Given the description of an element on the screen output the (x, y) to click on. 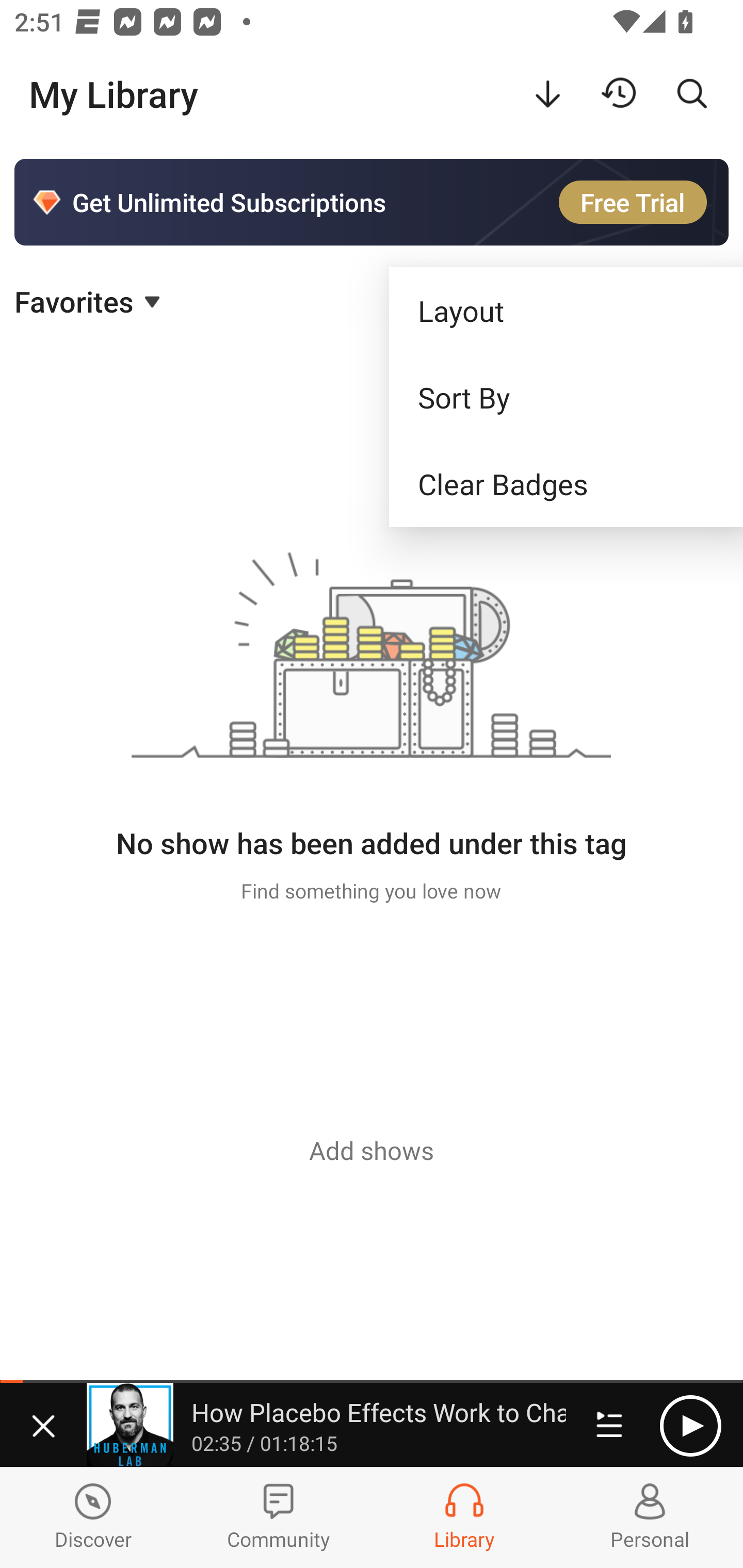
Layout (566, 310)
Sort By (566, 397)
Clear Badges (566, 483)
